Given the description of an element on the screen output the (x, y) to click on. 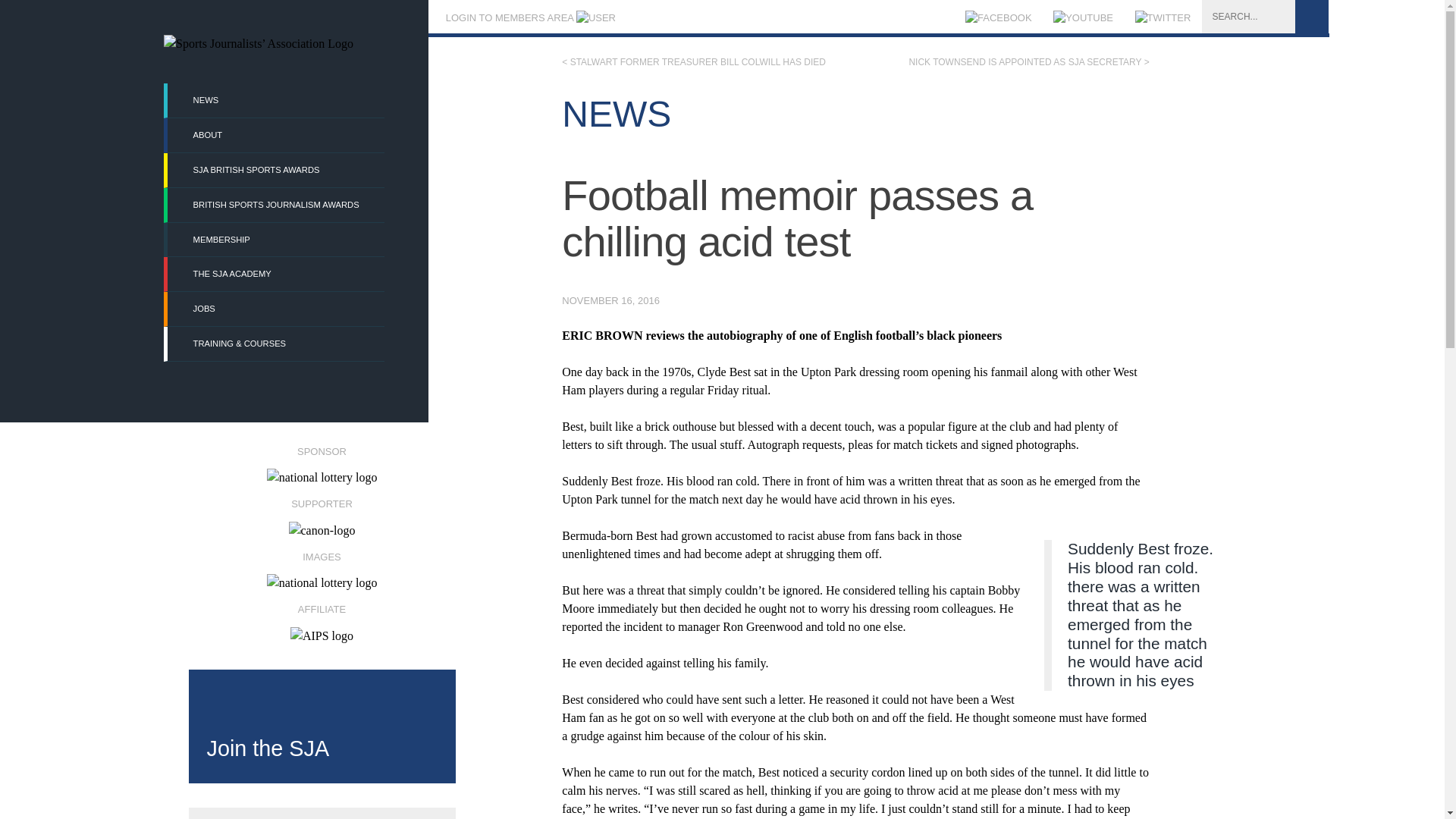
MEMBERSHIP (275, 239)
NEWS (275, 100)
IMAGES (320, 564)
Login to Members Area (529, 18)
LOGIN TO MEMBERS AREA (529, 18)
BRITISH SPORTS JOURNALISM AWARDS (275, 204)
ABOUT (275, 134)
SJA BRITISH SPORTS AWARDS (275, 170)
YouTube (1083, 18)
AIPS page (320, 617)
